Given the description of an element on the screen output the (x, y) to click on. 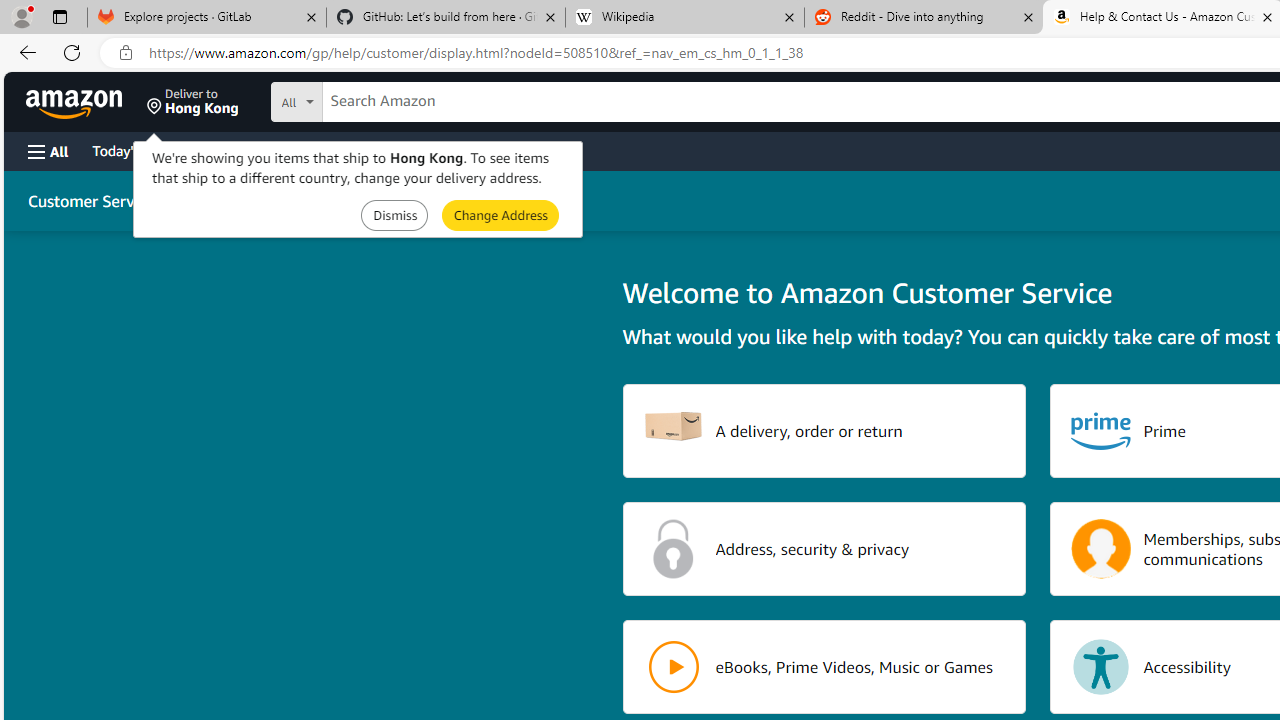
Amazon (76, 101)
Today's Deals (134, 150)
Deliver to Hong Kong (193, 101)
Skip to main content (86, 100)
A delivery, order or return (824, 430)
Search in (371, 99)
Gift Cards (442, 150)
eBooks, Prime Videos, Music or Games (824, 666)
